Given the description of an element on the screen output the (x, y) to click on. 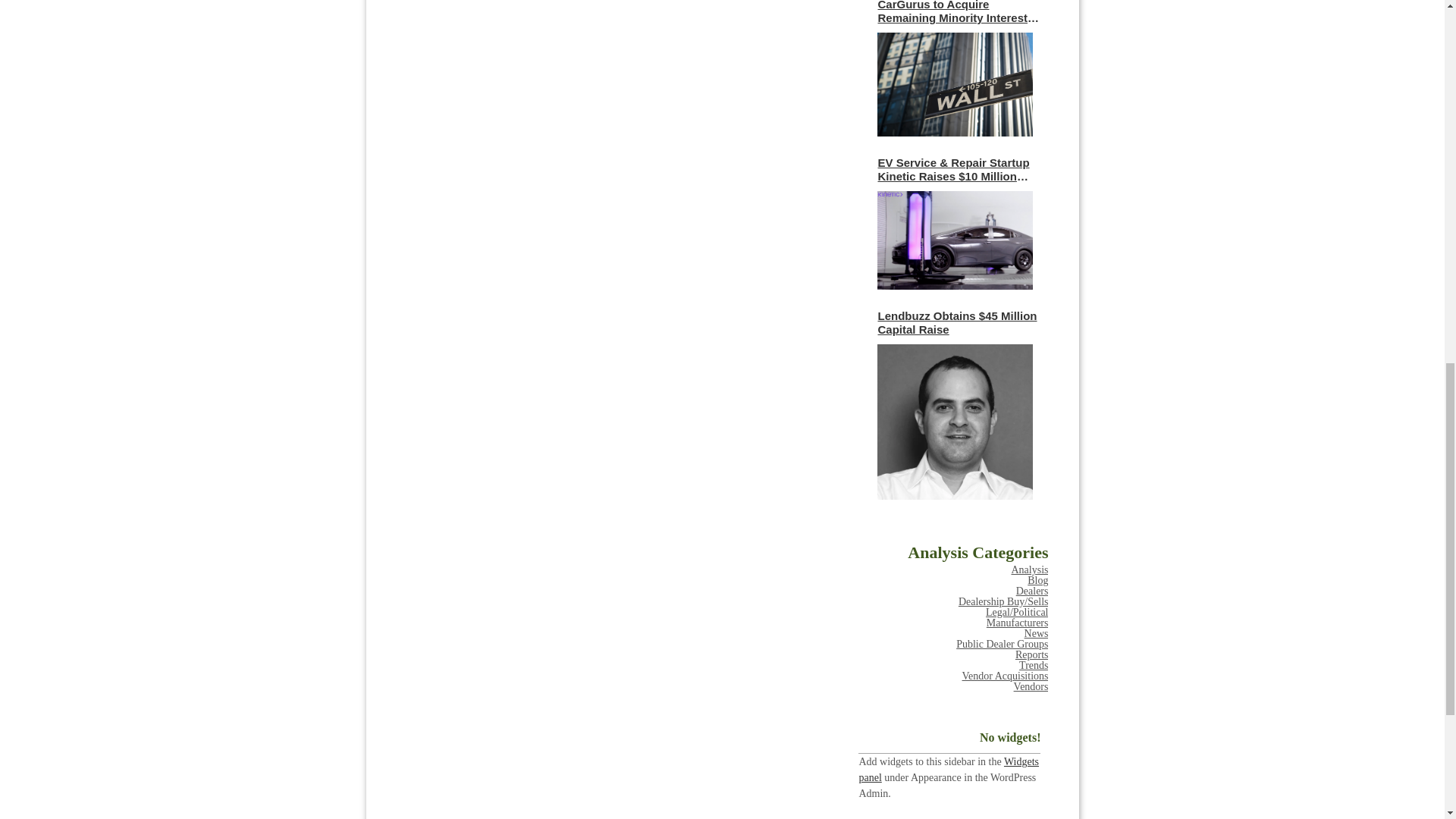
Reports (1031, 654)
Dealers (1032, 591)
Widgets panel (949, 768)
Vendors (1030, 686)
Vendor Acquisitions (1005, 675)
Trends (1033, 665)
Public Dealer Groups (1002, 644)
Analysis (1029, 569)
Manufacturers (1017, 622)
Blog (1037, 580)
News (1036, 633)
